Given the description of an element on the screen output the (x, y) to click on. 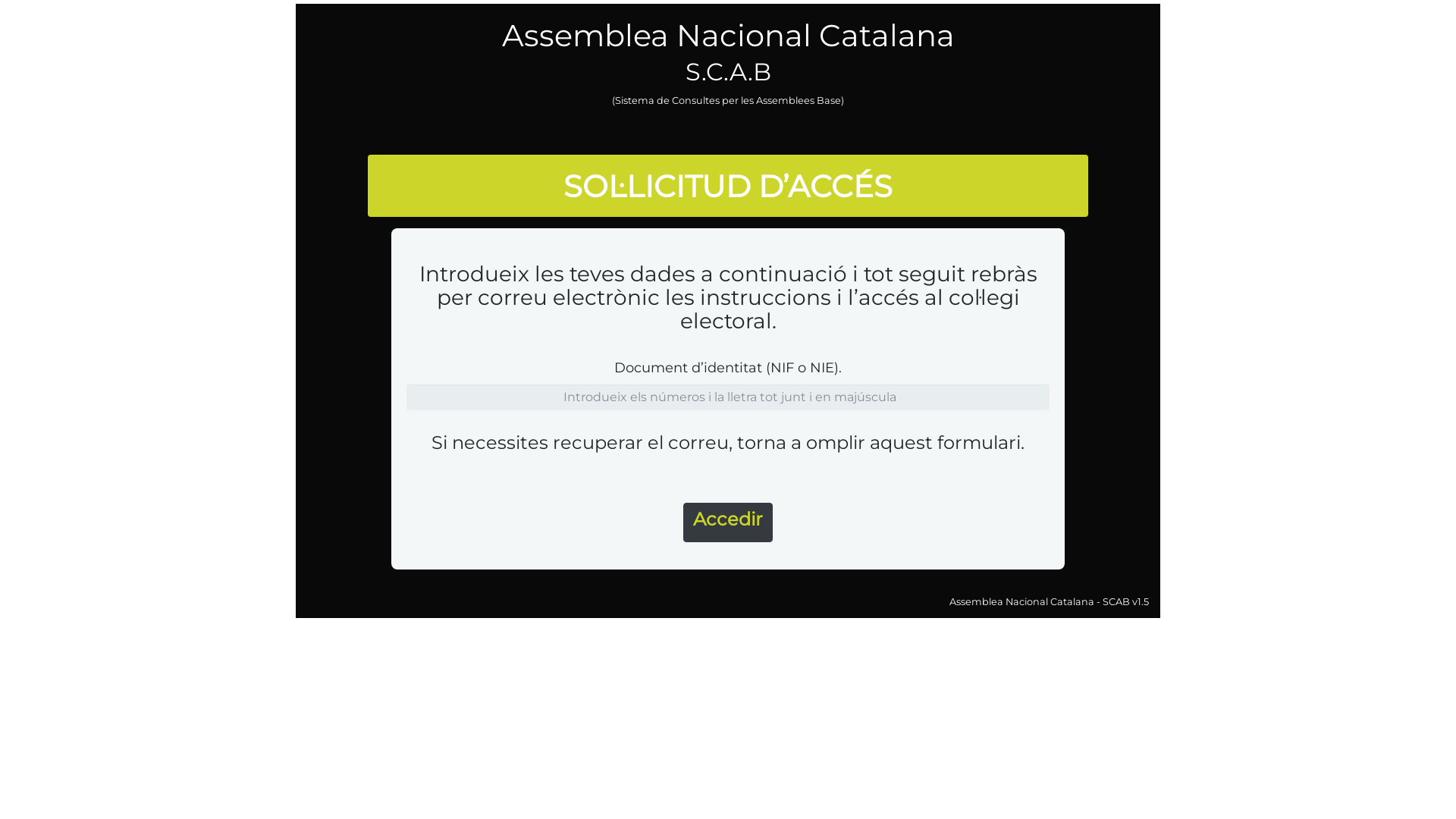
Accedir Element type: text (727, 522)
